Given the description of an element on the screen output the (x, y) to click on. 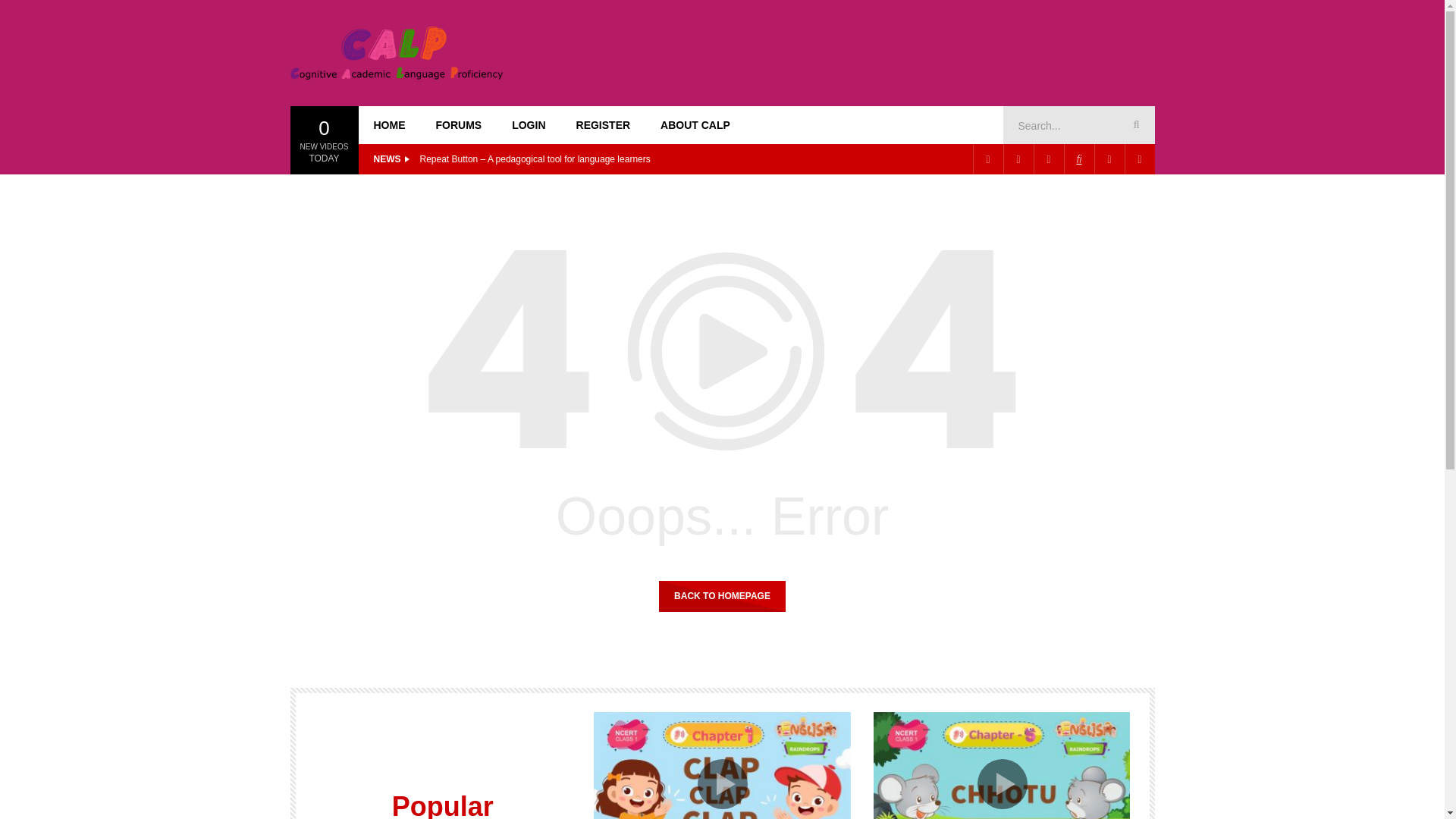
LOGIN (528, 125)
Search (1133, 125)
ABOUT CALP (695, 125)
FORUMS (458, 125)
Watch later (1108, 159)
HOME (389, 125)
TikTok (1077, 159)
Pinterest (1017, 159)
BACK TO HOMEPAGE (722, 595)
CALP Training (395, 52)
Youtube (1047, 159)
Notifications (1139, 159)
REGISTER (603, 125)
Facebook (987, 159)
Search (1133, 125)
